Given the description of an element on the screen output the (x, y) to click on. 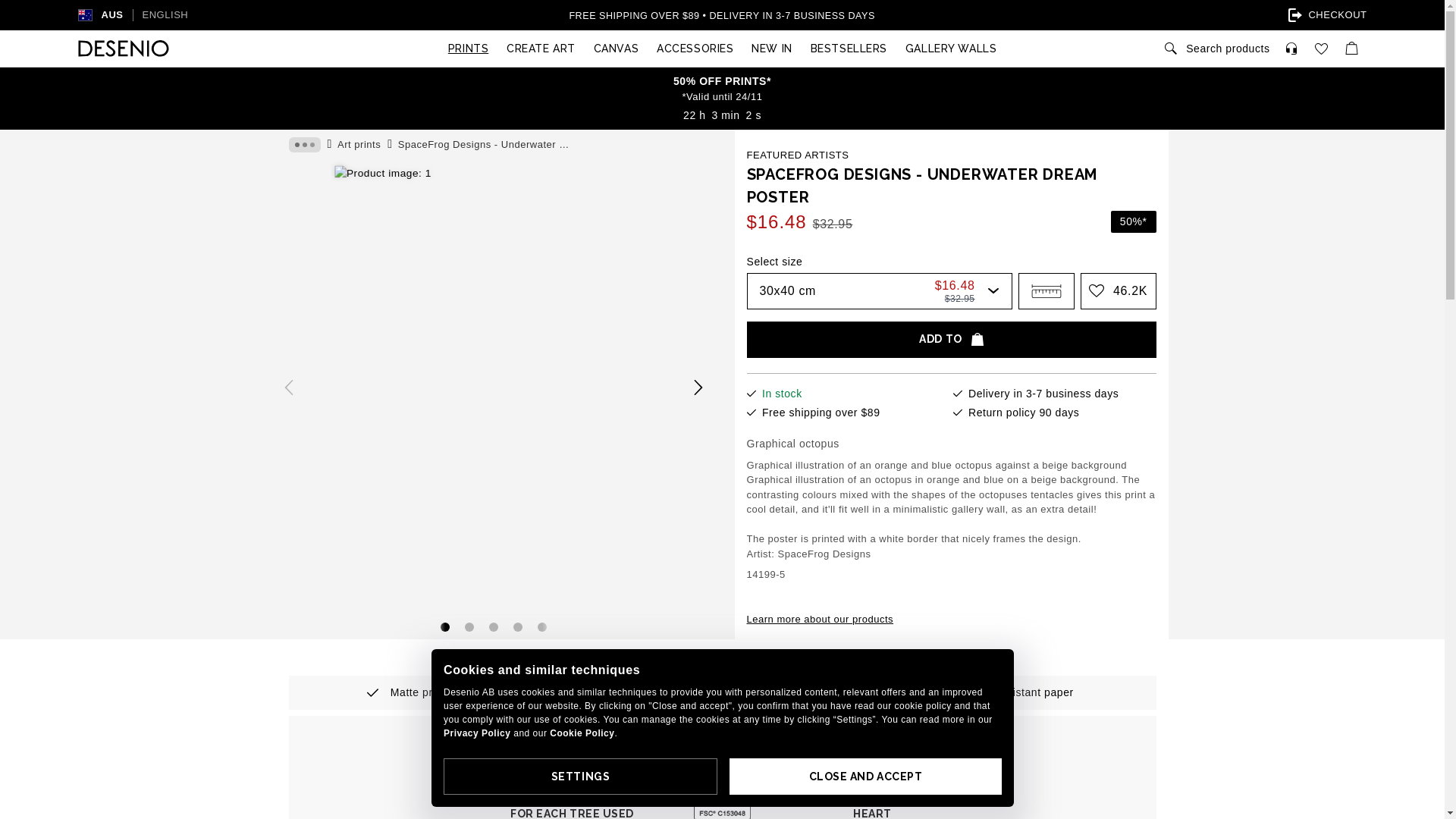
Privacy Policy Element type: text (475, 733)
CHECKOUT Element type: text (1293, 15)
BESTSELLERS Element type: text (848, 48)
CREATE ART Element type: text (540, 48)
CLOSE AND ACCEPT Element type: text (865, 776)
ACCESSORIES Element type: text (694, 48)
NEW IN Element type: text (771, 48)
Search products Element type: text (1215, 48)
CANVAS Element type: text (615, 48)
SETTINGS Element type: text (579, 776)
ADD TO
CART Element type: text (950, 339)
46.2K Element type: text (1117, 291)
30x40 cm
$16.48
$32.95 Element type: text (878, 291)
GALLERY WALLS Element type: text (950, 48)
Art prints Element type: text (358, 143)
SpaceFrog Designs - Underwater Dream Poster Element type: text (489, 143)
Learn more about our products Element type: text (819, 619)
Cookie Policy Element type: text (581, 733)
Skip to main content. Element type: text (0, 0)
PRINTS Element type: text (468, 48)
AUS
ENGLISH Element type: text (149, 15)
